Given the description of an element on the screen output the (x, y) to click on. 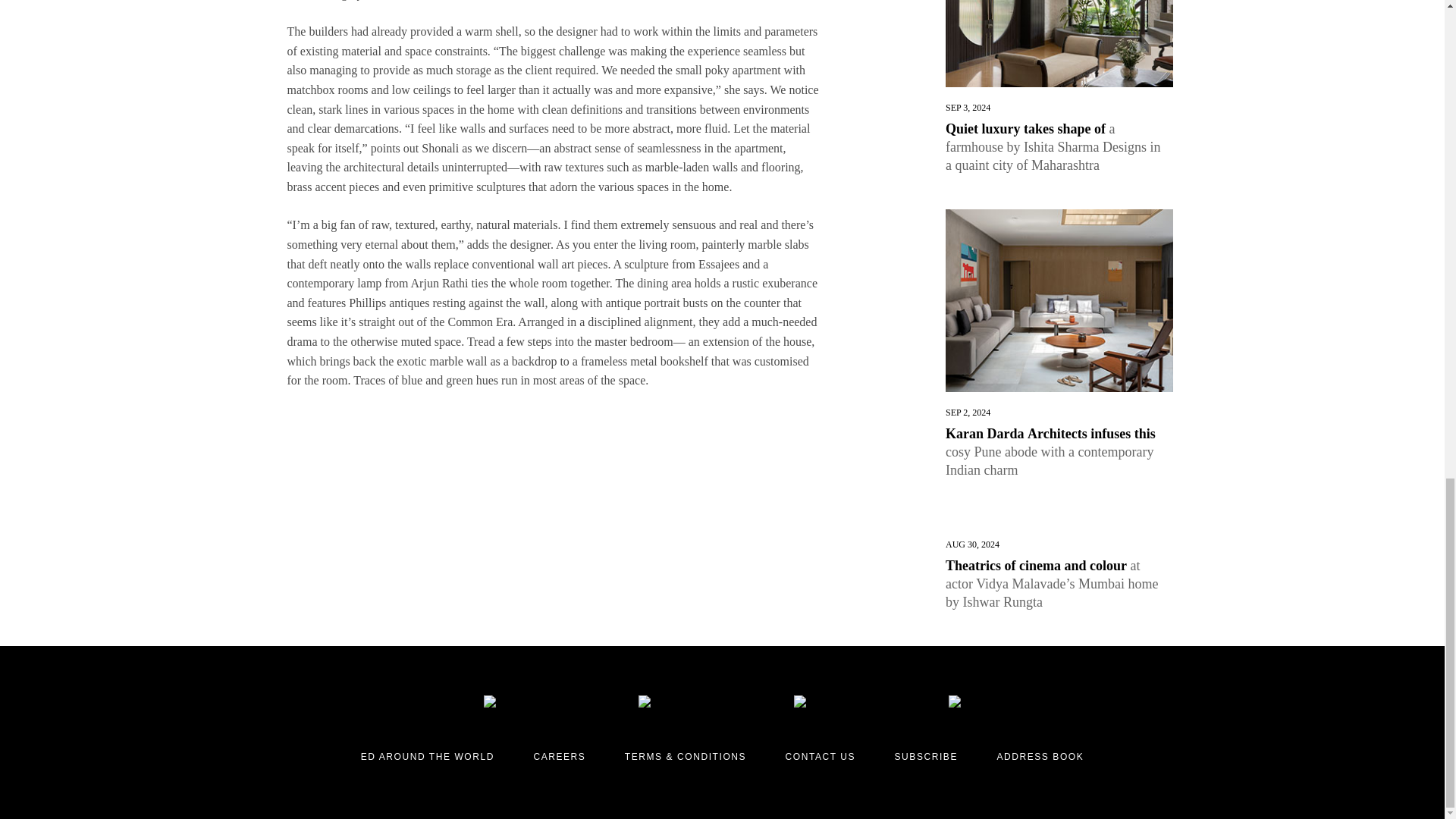
CONTACT US (821, 756)
ED AROUND THE WORLD (428, 756)
SUBSCRIBE (926, 756)
CAREERS (558, 756)
